Given the description of an element on the screen output the (x, y) to click on. 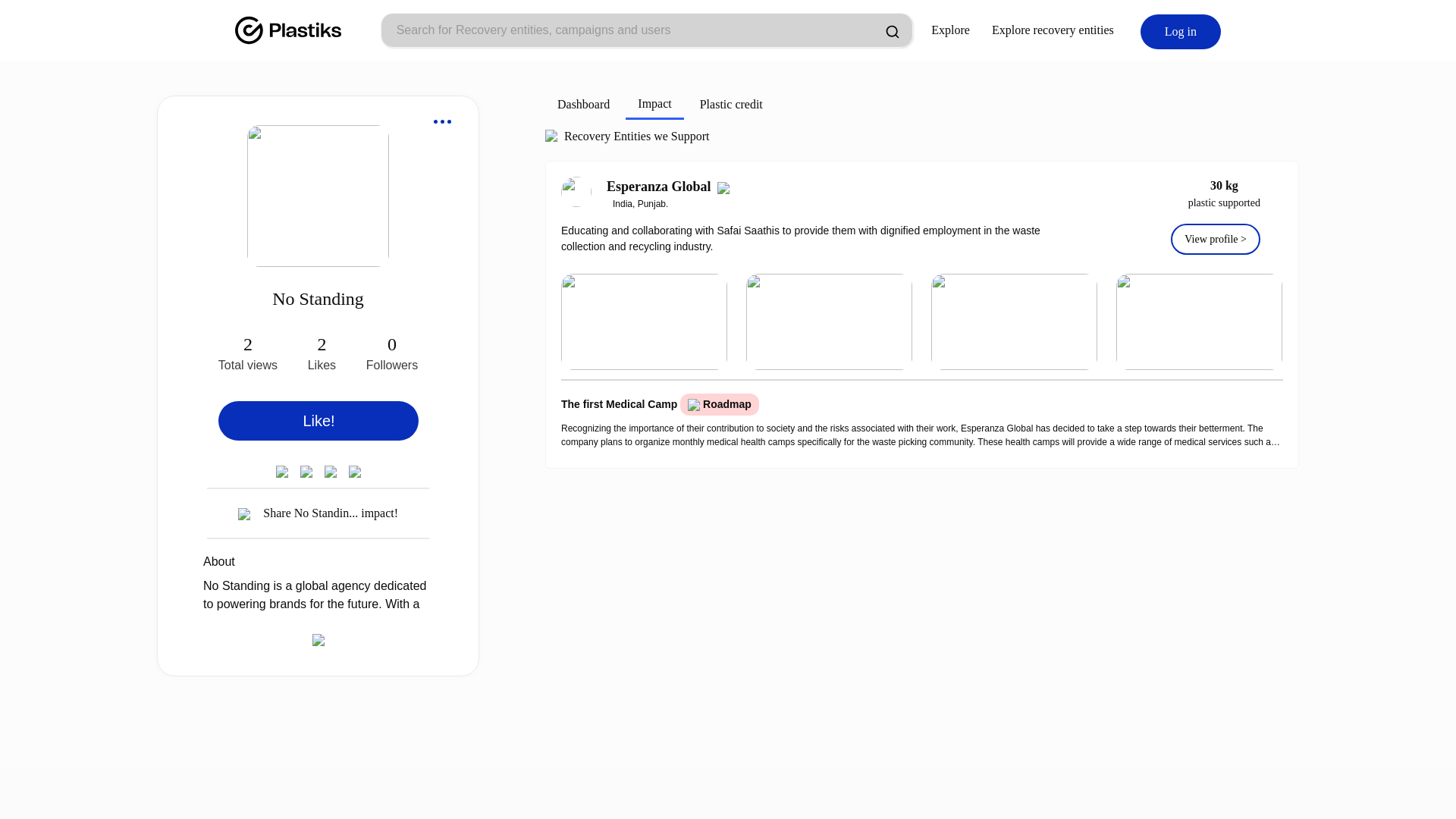
Explore recovery entities (1052, 30)
Log in (1180, 31)
Explore (950, 30)
